Given the description of an element on the screen output the (x, y) to click on. 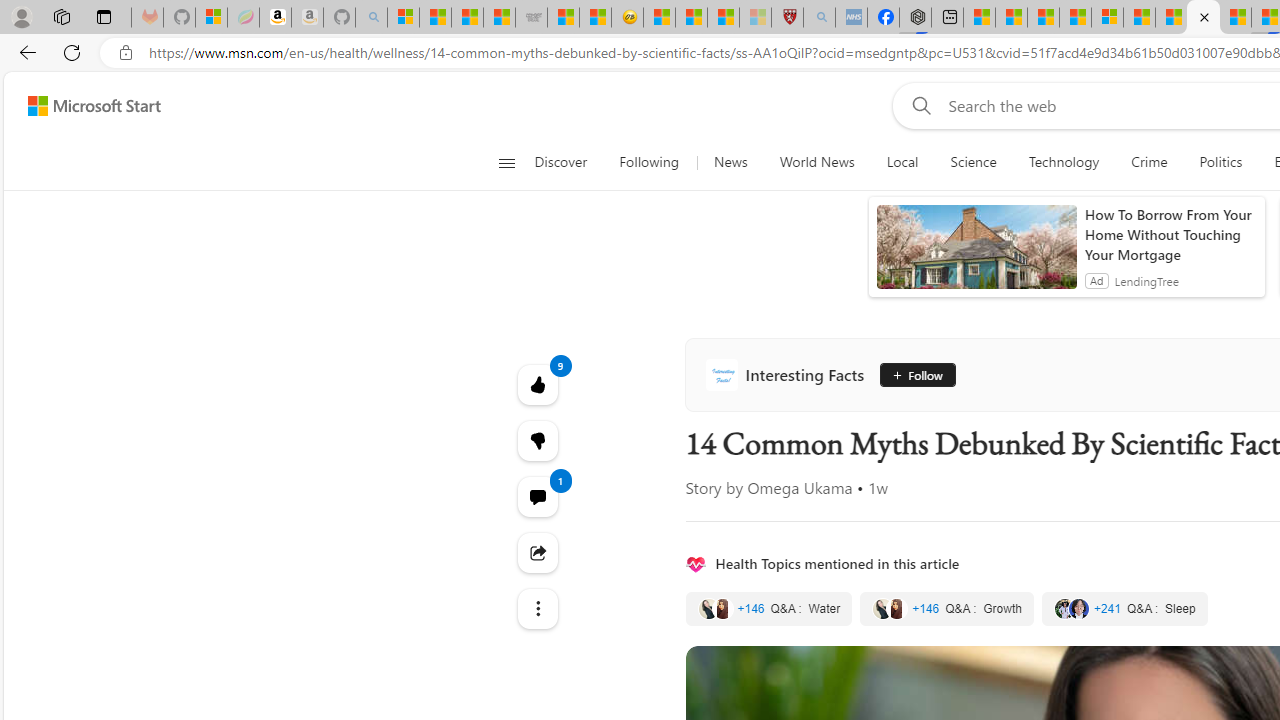
9 Like (537, 384)
Science - MSN (722, 17)
Class: button-glyph (505, 162)
